Given the description of an element on the screen output the (x, y) to click on. 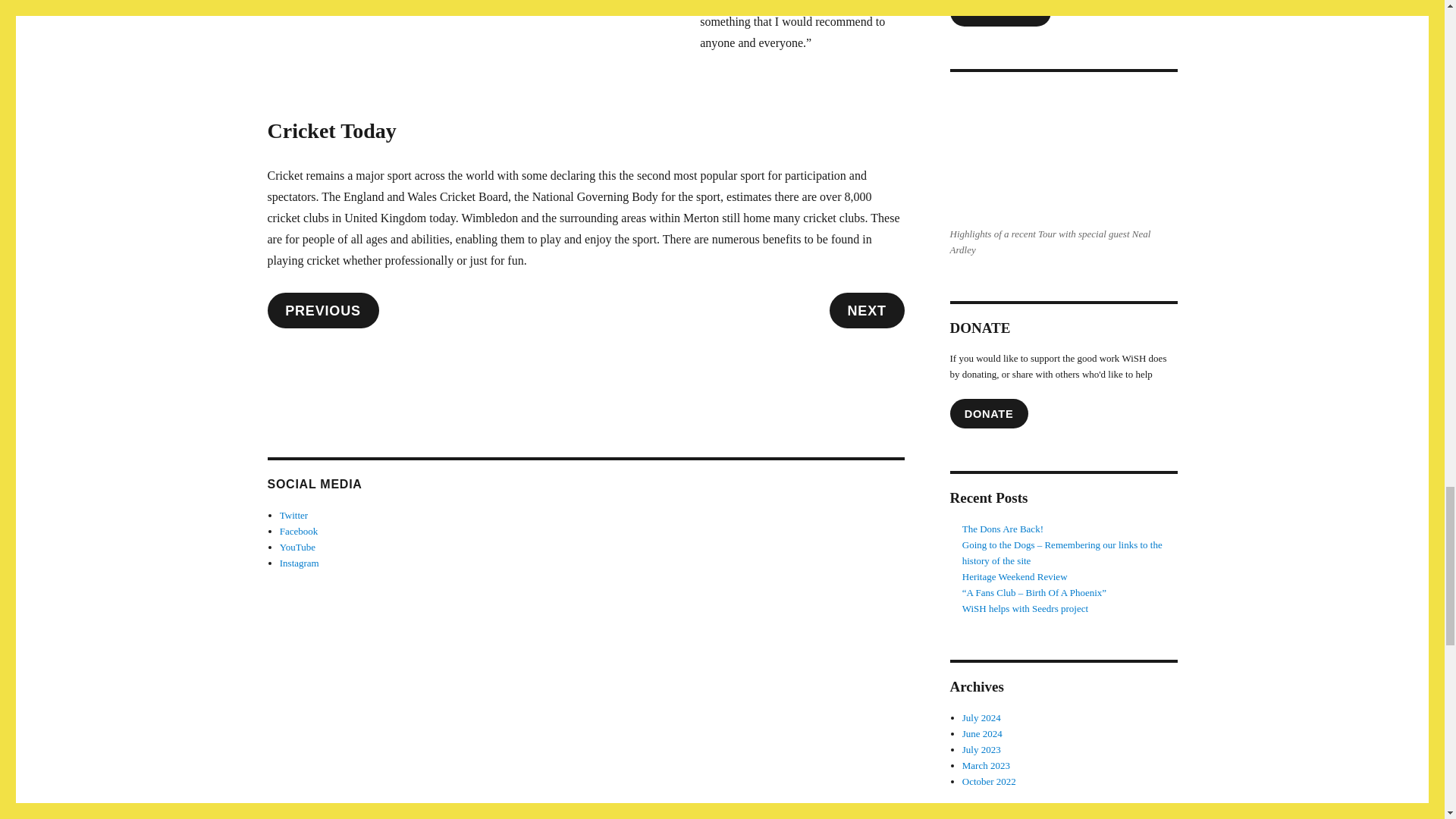
PREVIOUS (322, 310)
PLST Music Edit 2 mins   Neal Ardley (1062, 151)
Facebook (298, 531)
YouTube (297, 546)
NEXT (866, 310)
Twitter (293, 514)
